Given the description of an element on the screen output the (x, y) to click on. 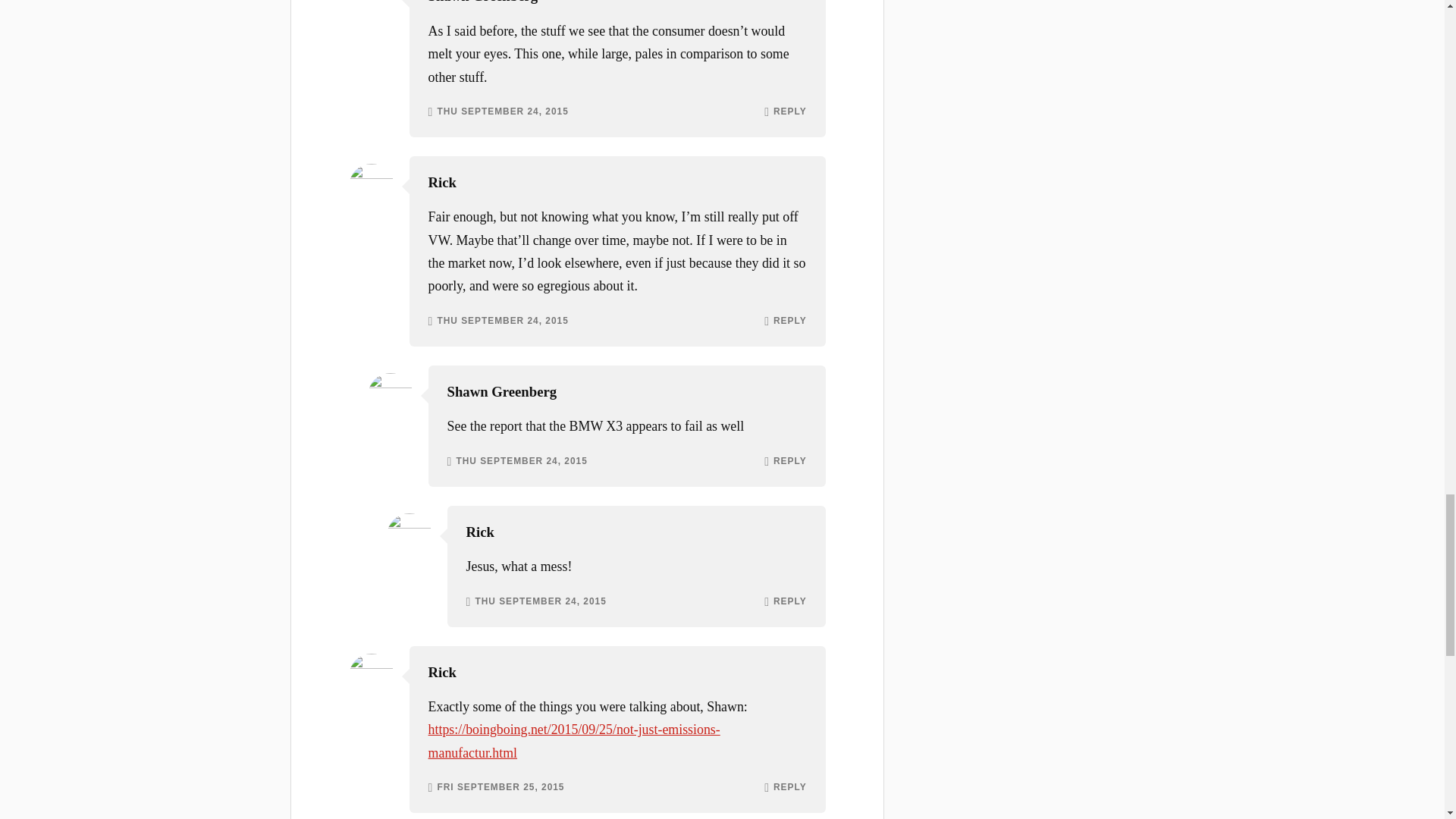
THU SEPTEMBER 24, 2015 (501, 112)
THU SEPTEMBER 24, 2015 (520, 461)
REPLY (789, 112)
THU SEPTEMBER 24, 2015 (501, 320)
REPLY (789, 320)
REPLY (789, 601)
THU SEPTEMBER 24, 2015 (539, 601)
REPLY (789, 461)
